Given the description of an element on the screen output the (x, y) to click on. 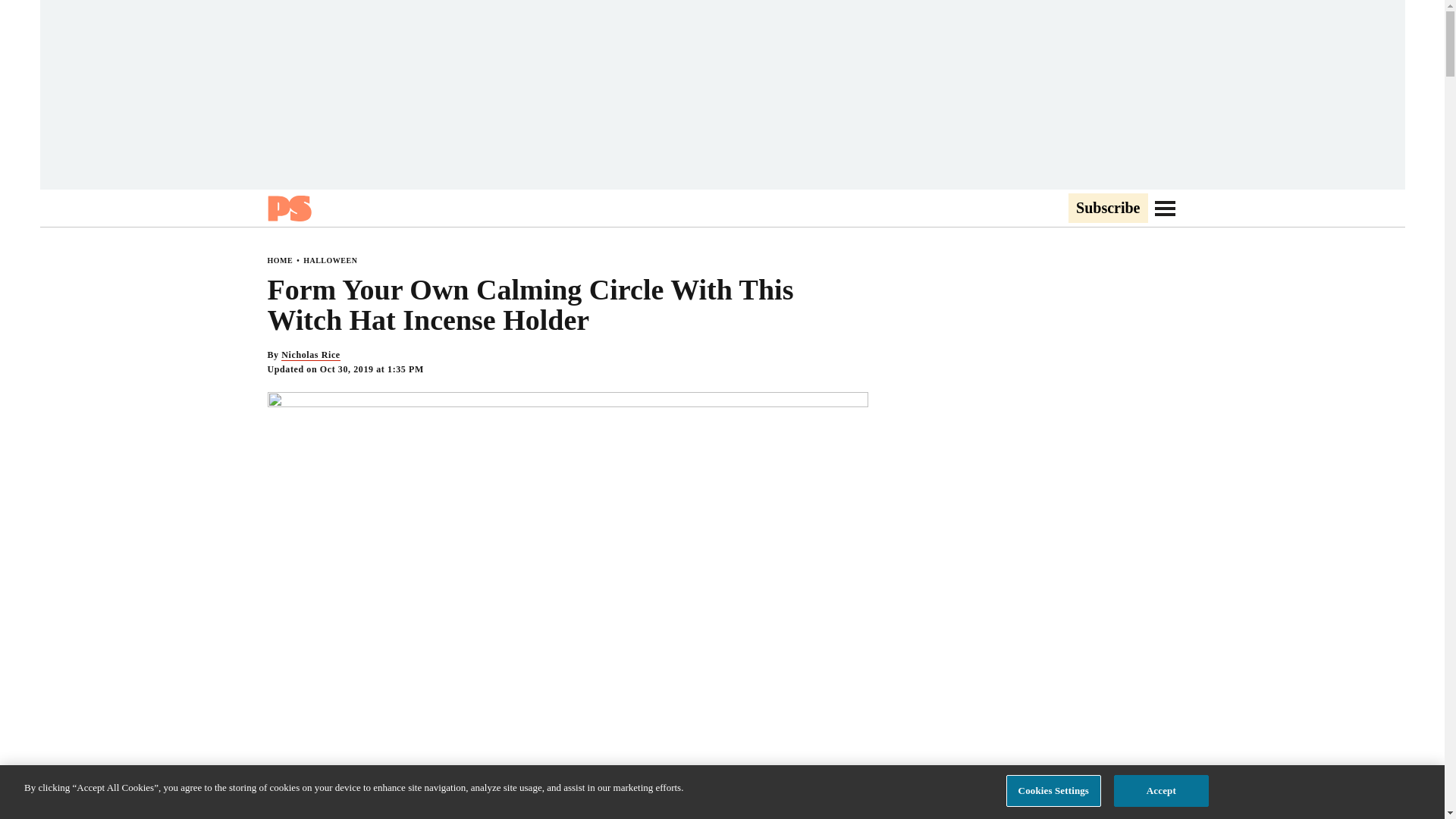
Subscribe (1107, 208)
Go to Navigation (1164, 207)
HOME (279, 260)
Go to Navigation (1164, 207)
HALLOWEEN (329, 260)
Popsugar (288, 208)
Nicholas Rice (310, 355)
